Given the description of an element on the screen output the (x, y) to click on. 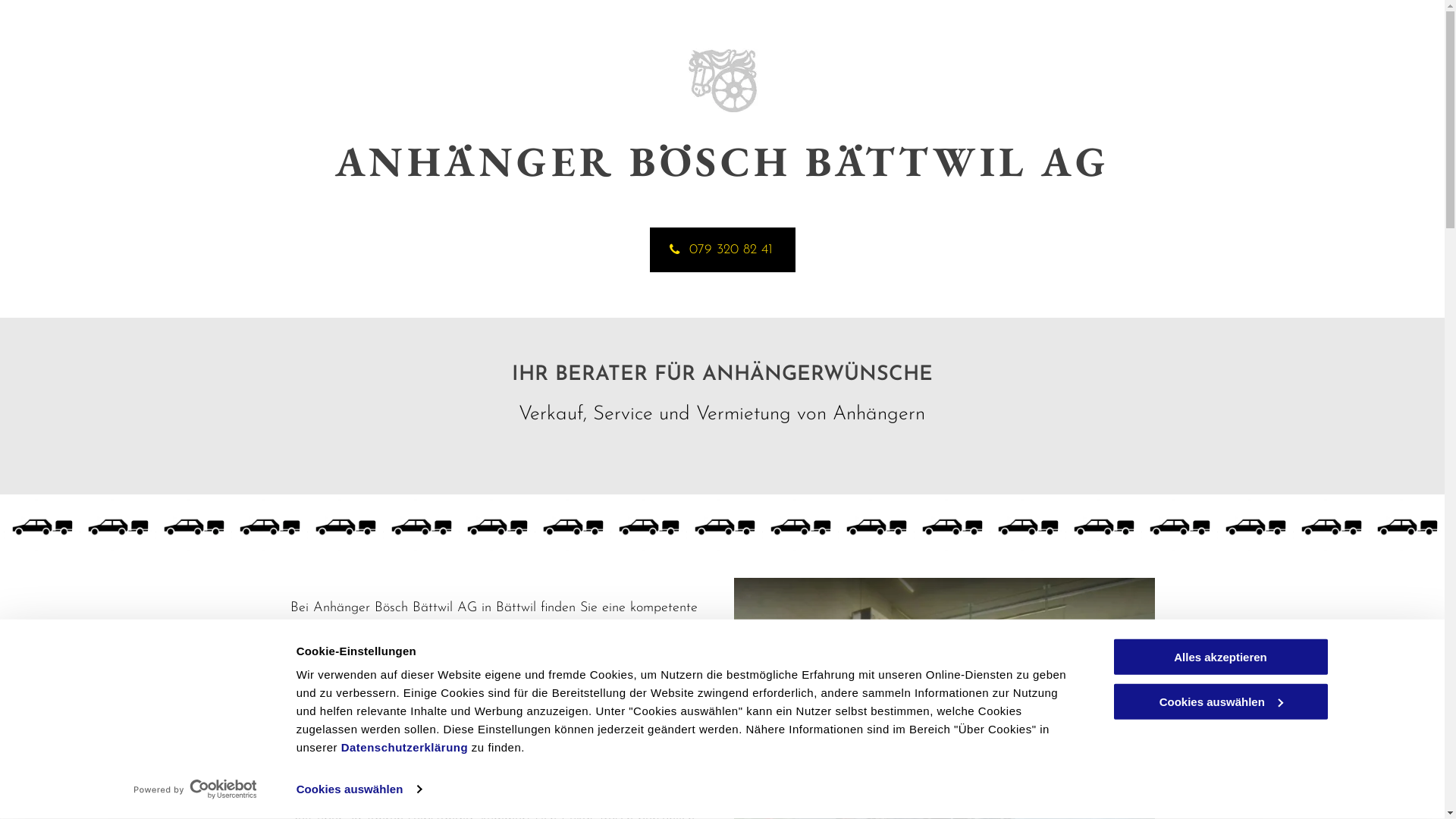
079 320 82 41 Element type: text (721, 249)
Alles akzeptieren Element type: text (1219, 656)
